Given the description of an element on the screen output the (x, y) to click on. 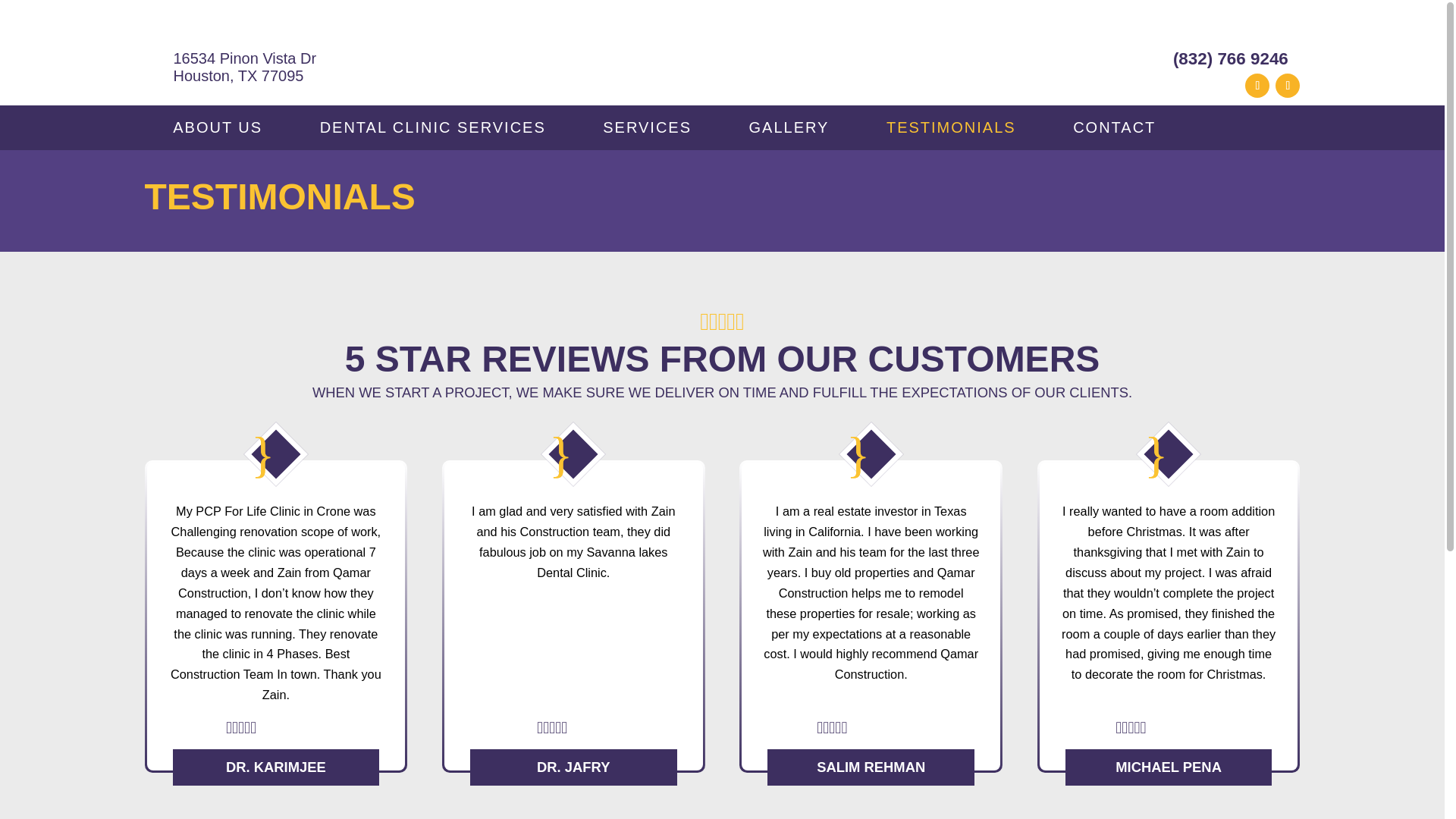
DENTAL CLINIC SERVICES (433, 127)
ABOUT US (217, 127)
SERVICES (646, 127)
CONTACT (1114, 127)
GALLERY (789, 127)
Follow on Instagram (1287, 85)
Follow on Facebook (1256, 85)
TESTIMONIALS (951, 127)
